Given the description of an element on the screen output the (x, y) to click on. 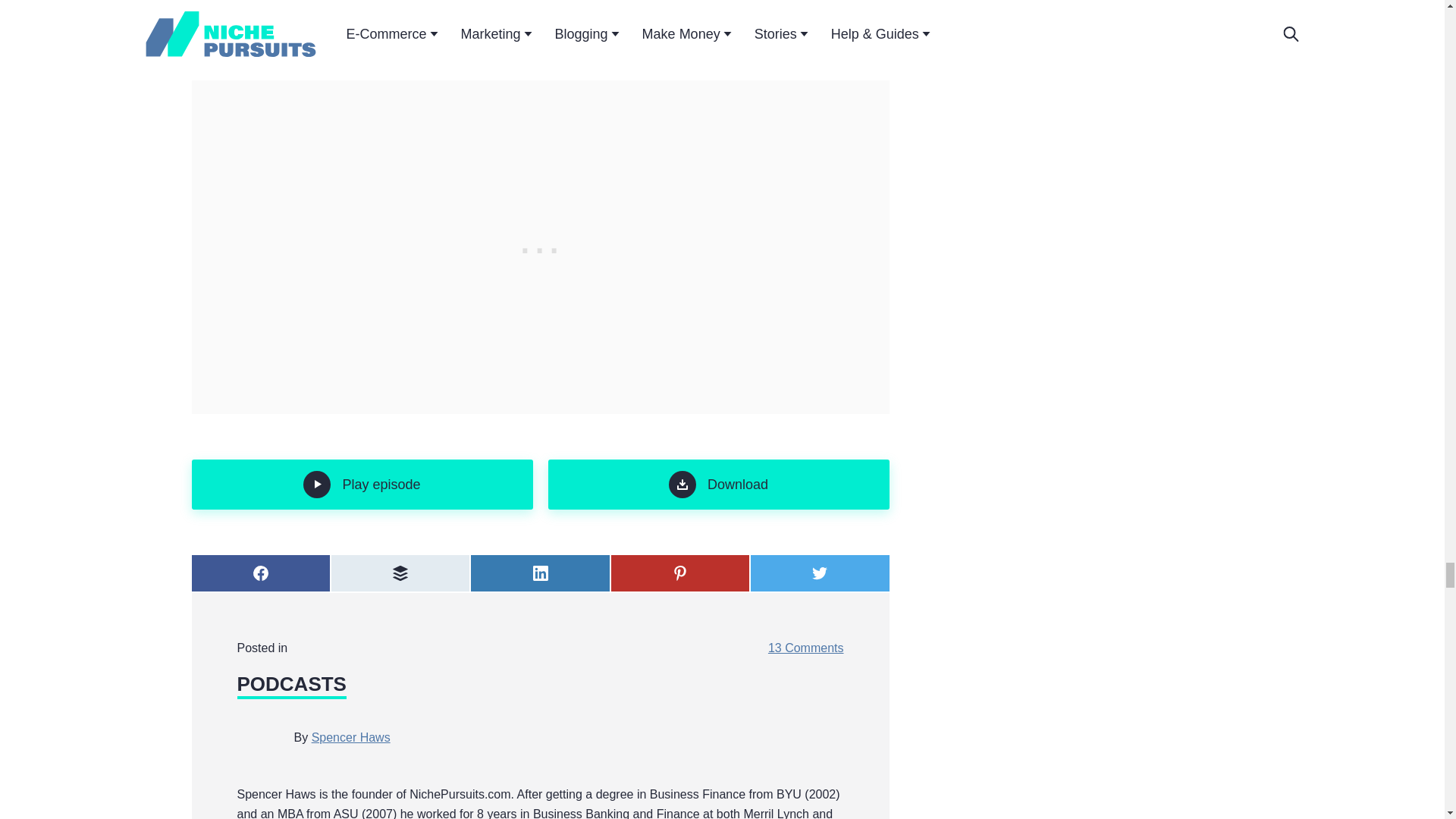
Play episode (361, 484)
Download (717, 484)
